Given the description of an element on the screen output the (x, y) to click on. 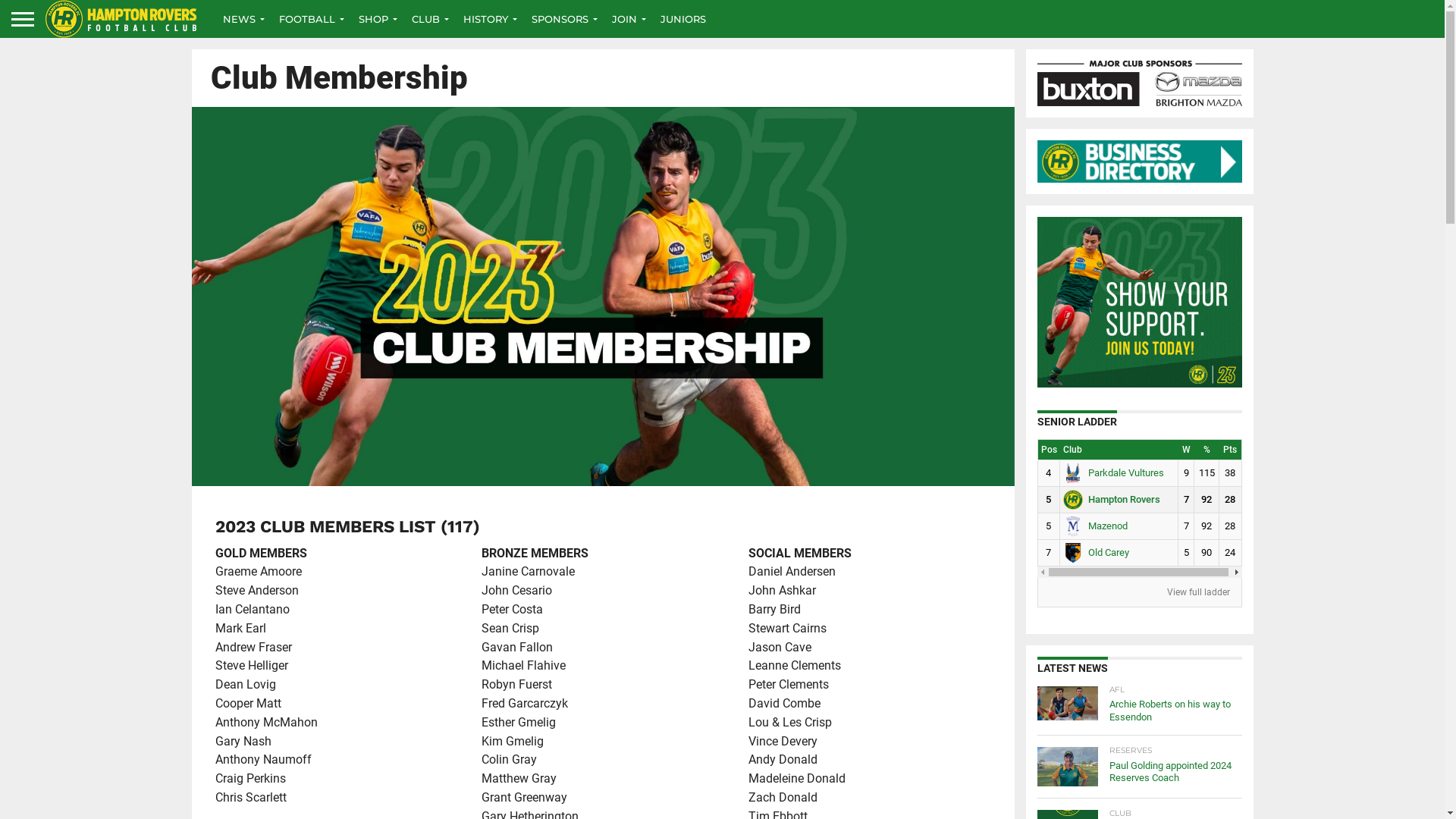
FOOTBALL Element type: text (308, 18)
SHOP Element type: text (374, 18)
SPONSORS Element type: text (560, 18)
Parkdale Vultures Element type: text (1113, 472)
View full ladder Element type: text (1197, 591)
Old Carey Element type: text (1096, 552)
CLUB Element type: text (426, 18)
NEWS Element type: text (240, 18)
Hampton Rovers Element type: text (1111, 499)
Mazenod Element type: text (1095, 525)
JOIN Element type: text (625, 18)
HISTORY Element type: text (486, 18)
JUNIORS Element type: text (682, 18)
